Given the description of an element on the screen output the (x, y) to click on. 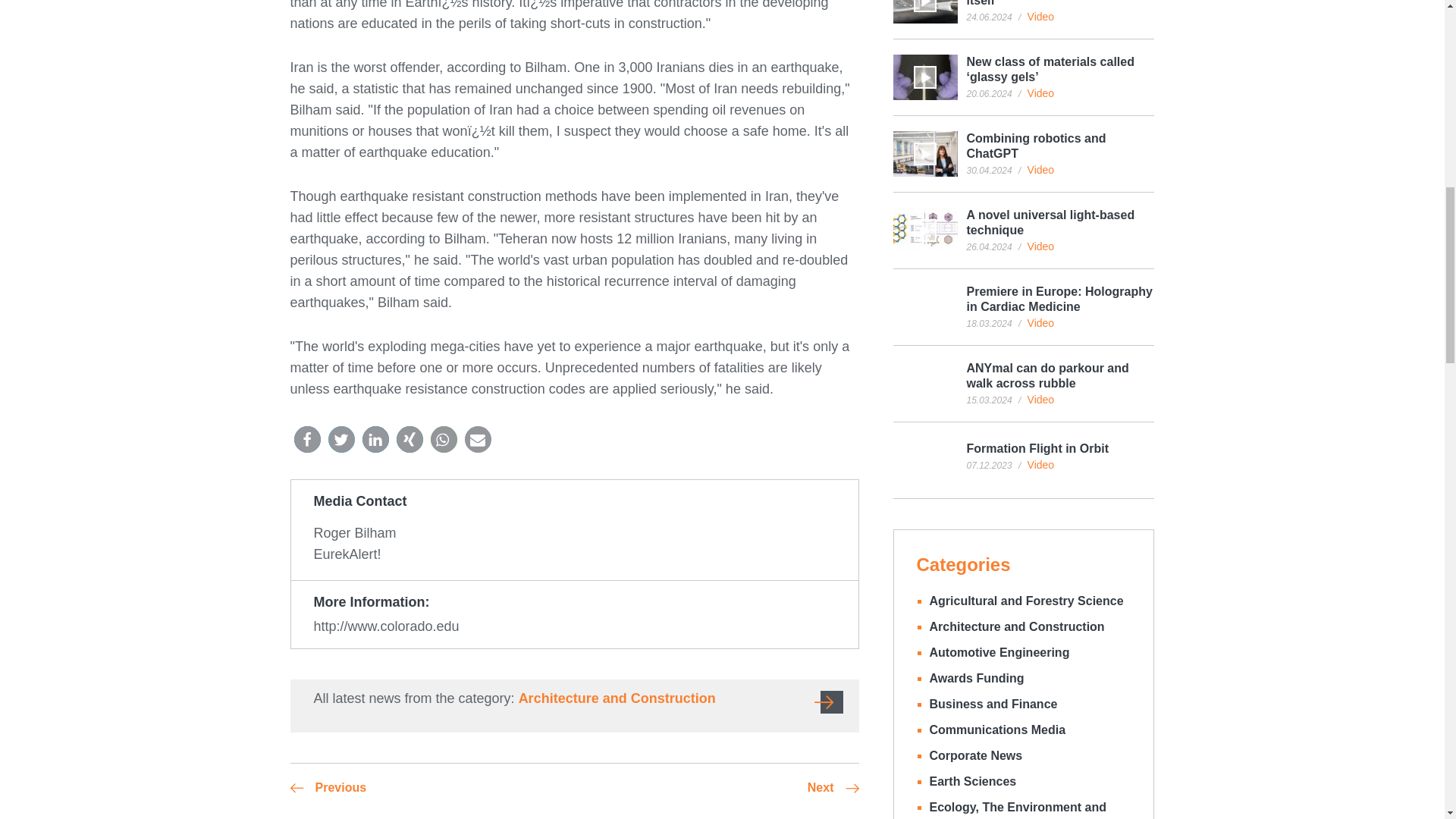
Share on Facebook (307, 438)
Send by email (477, 438)
Share on XING (409, 438)
Share on Twitter (340, 438)
Share on Whatsapp (443, 438)
Share on LinkedIn (375, 438)
